Given the description of an element on the screen output the (x, y) to click on. 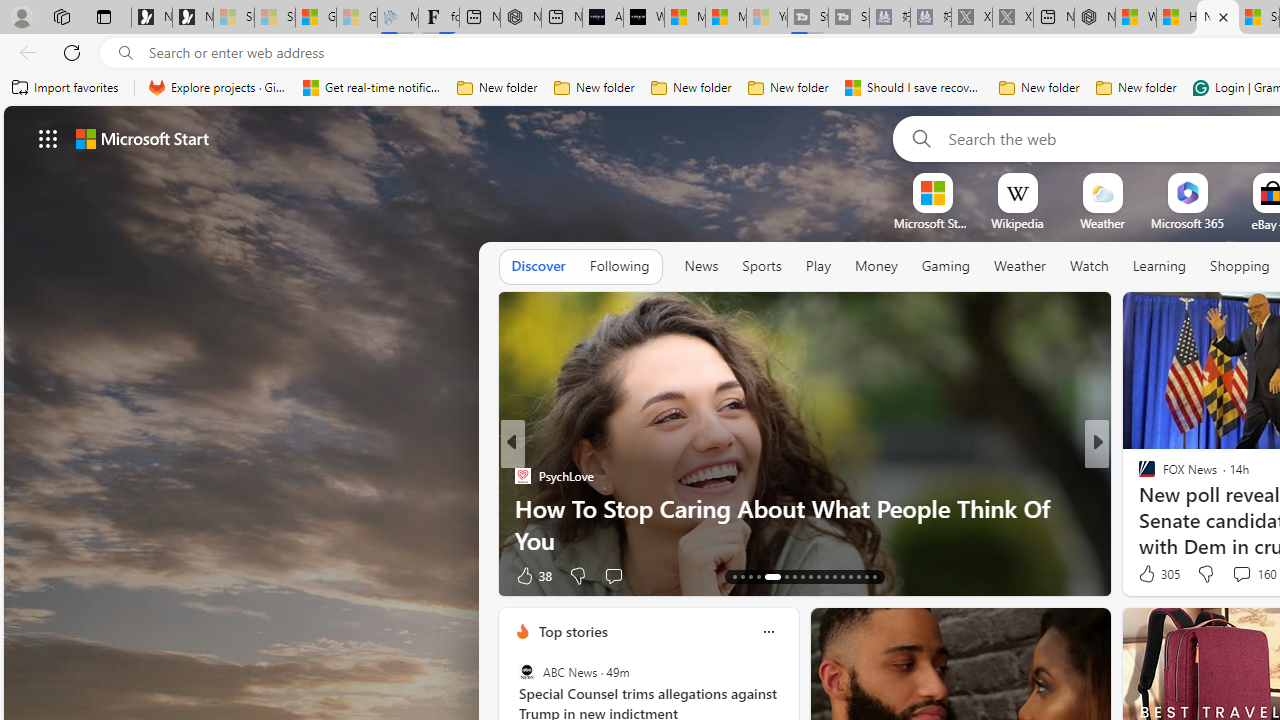
20 Like (1149, 574)
386 Like (1151, 574)
124 Like (1151, 574)
98 Like (1149, 574)
Forge of Empires (1175, 507)
Washington Examiner (1138, 475)
AutomationID: tab-22 (818, 576)
157 Like (1151, 574)
Reuters (1138, 475)
AutomationID: waffle (47, 138)
